Given the description of an element on the screen output the (x, y) to click on. 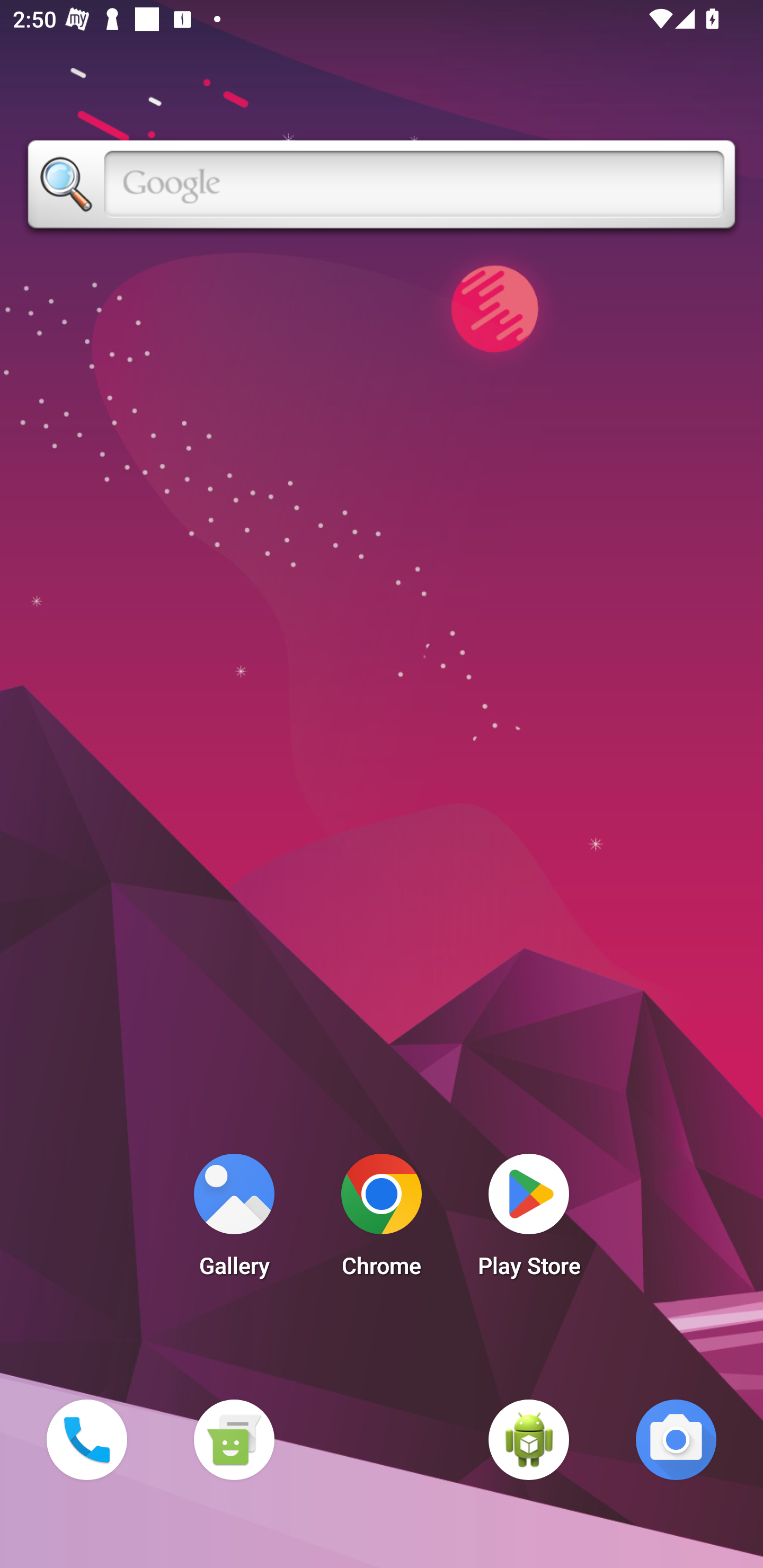
Gallery (233, 1220)
Chrome (381, 1220)
Play Store (528, 1220)
Phone (86, 1439)
Messaging (233, 1439)
WebView Browser Tester (528, 1439)
Camera (676, 1439)
